Given the description of an element on the screen output the (x, y) to click on. 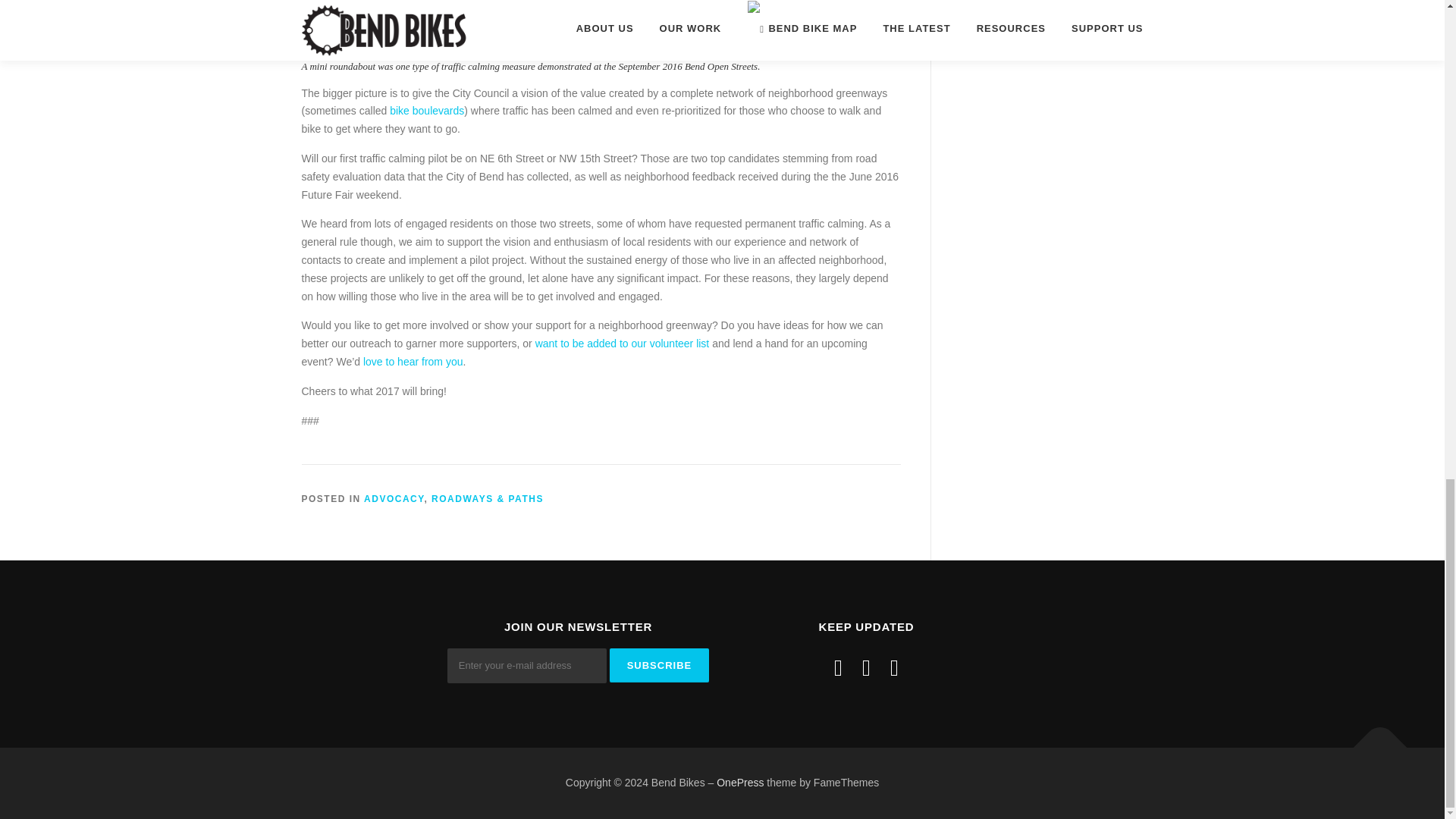
ADVOCACY (393, 498)
love to hear from you (412, 361)
want to be added to our volunteer list (622, 343)
bike boulevards (427, 110)
Back To Top (1372, 740)
Subscribe (660, 665)
